Given the description of an element on the screen output the (x, y) to click on. 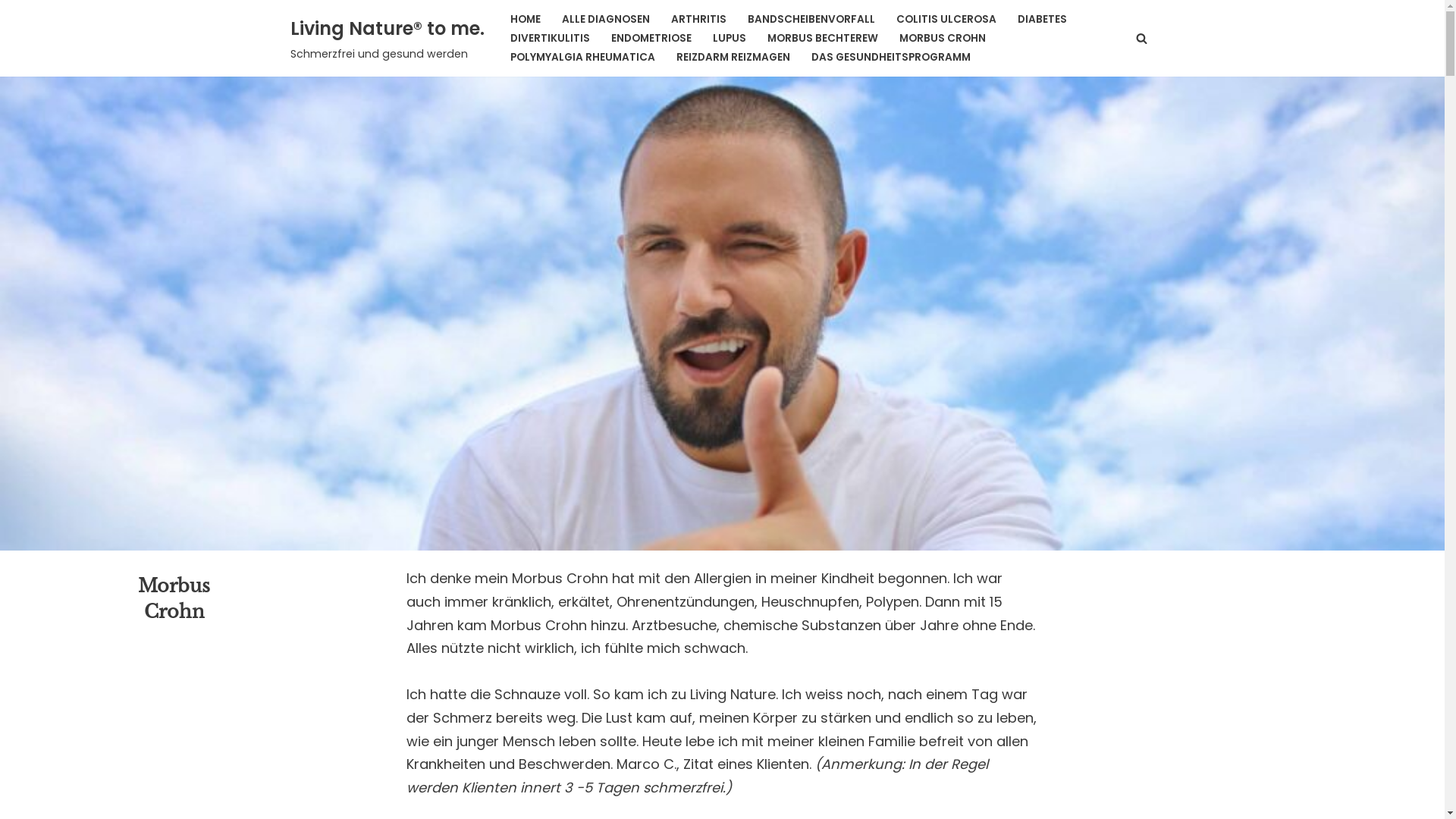
Zum Inhalt springen Element type: text (11, 31)
MORBUS BECHTEREW Element type: text (822, 37)
DAS GESUNDHEITSPROGRAMM Element type: text (890, 56)
BANDSCHEIBENVORFALL Element type: text (811, 18)
LUPUS Element type: text (729, 37)
ENDOMETRIOSE Element type: text (651, 37)
DIABETES Element type: text (1041, 18)
COLITIS ULCEROSA Element type: text (946, 18)
REIZDARM REIZMAGEN Element type: text (733, 56)
POLYMYALGIA RHEUMATICA Element type: text (581, 56)
MORBUS CROHN Element type: text (942, 37)
ARTHRITIS Element type: text (697, 18)
HOME Element type: text (524, 18)
DIVERTIKULITIS Element type: text (549, 37)
ALLE DIAGNOSEN Element type: text (605, 18)
